Given the description of an element on the screen output the (x, y) to click on. 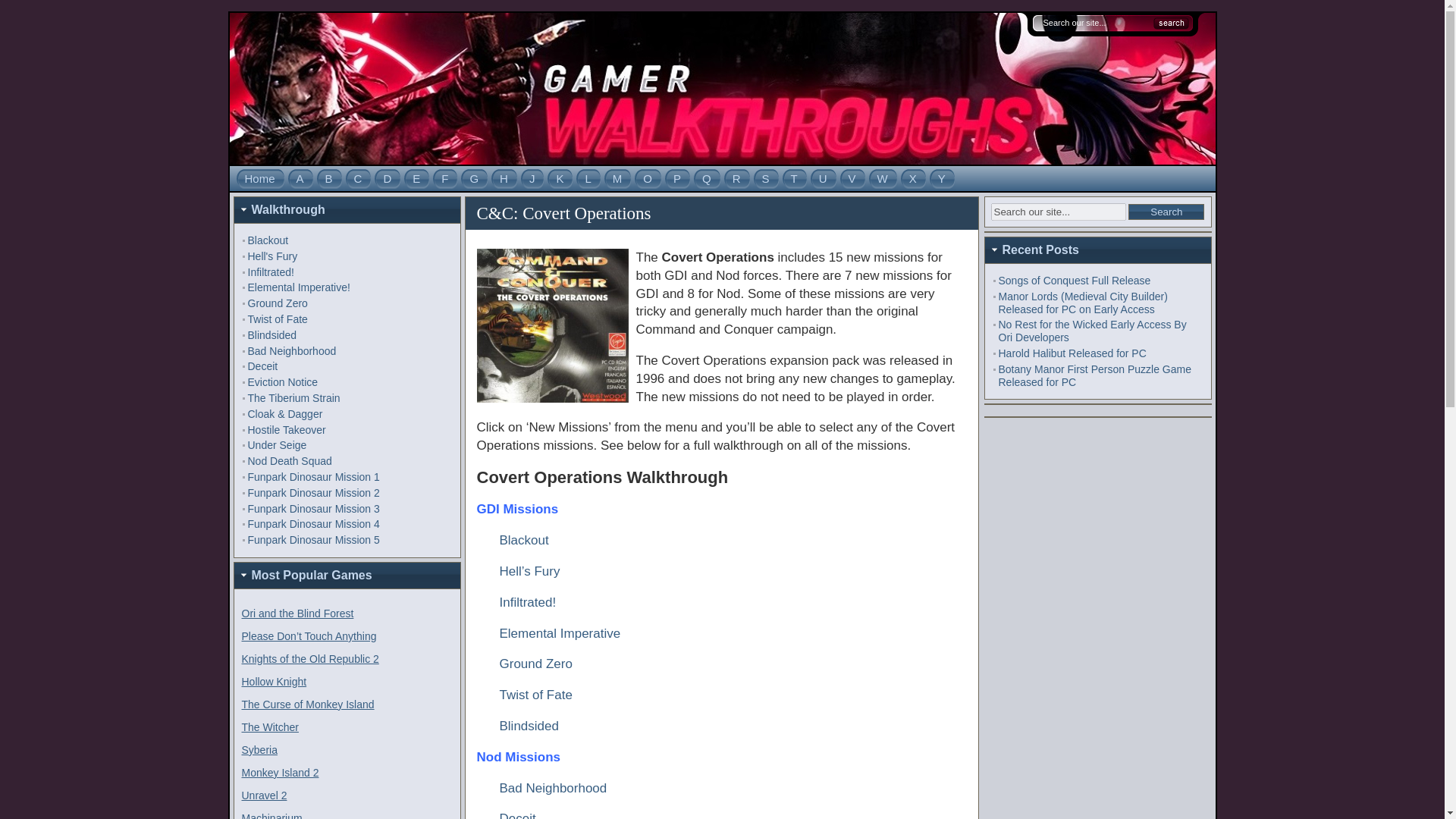
E (416, 178)
B (328, 178)
Eviction Notice (282, 381)
K (560, 178)
Search our site... (1096, 22)
P (676, 178)
J (531, 178)
R (737, 178)
Blindsided (272, 335)
The Tiberium Strain (293, 398)
